Given the description of an element on the screen output the (x, y) to click on. 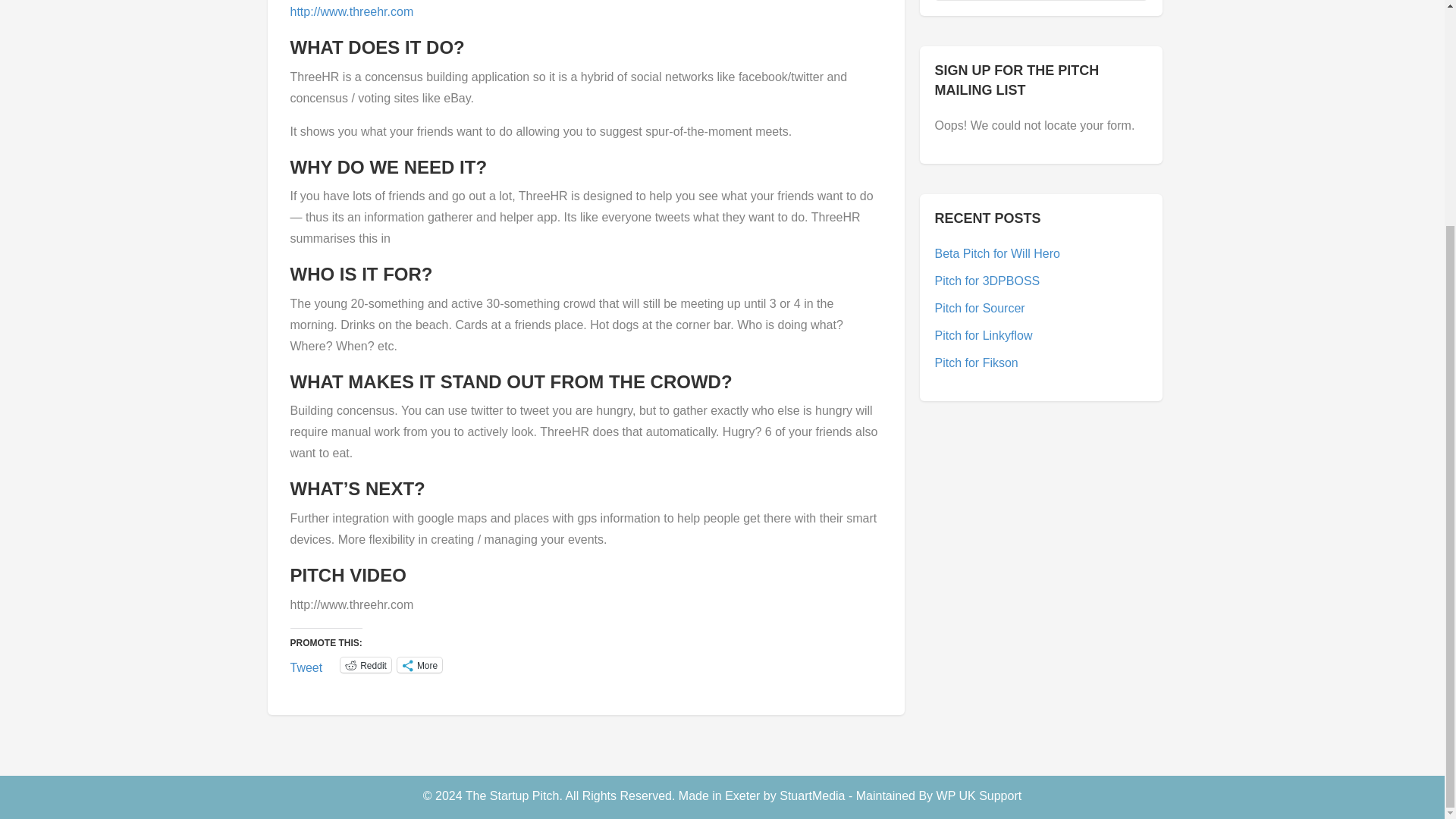
StuartMedia (811, 795)
Tweet (305, 663)
WP UK Support (979, 795)
Beta Pitch for Will Hero (996, 253)
Pitch for Fikson (975, 362)
Professional UK WordPress Support based in Exeter, Devon. (979, 795)
Reddit (365, 664)
Pitch for Sourcer (979, 308)
Pitch for 3DPBOSS (986, 280)
